Given the description of an element on the screen output the (x, y) to click on. 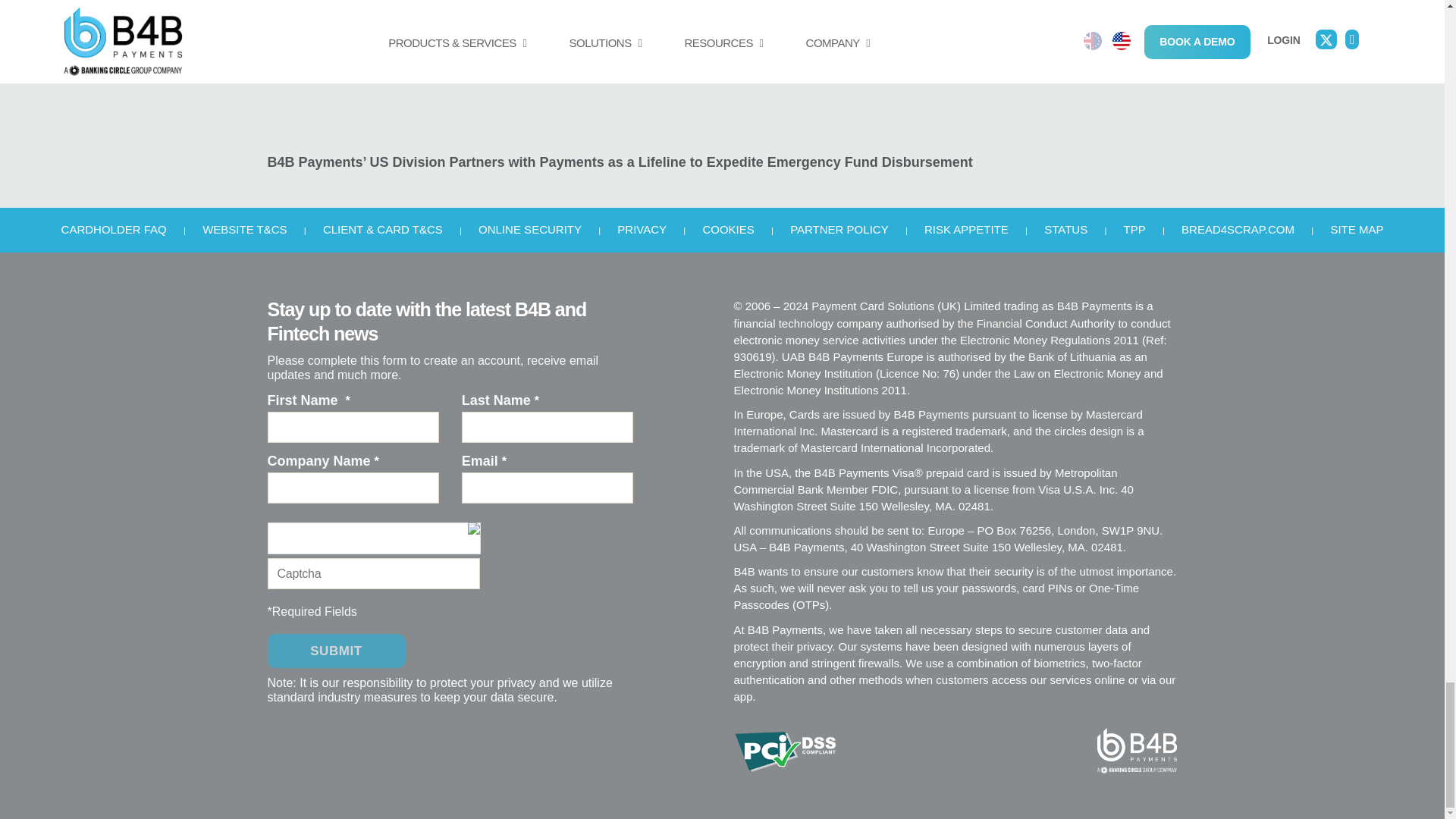
Submit (335, 650)
